Given the description of an element on the screen output the (x, y) to click on. 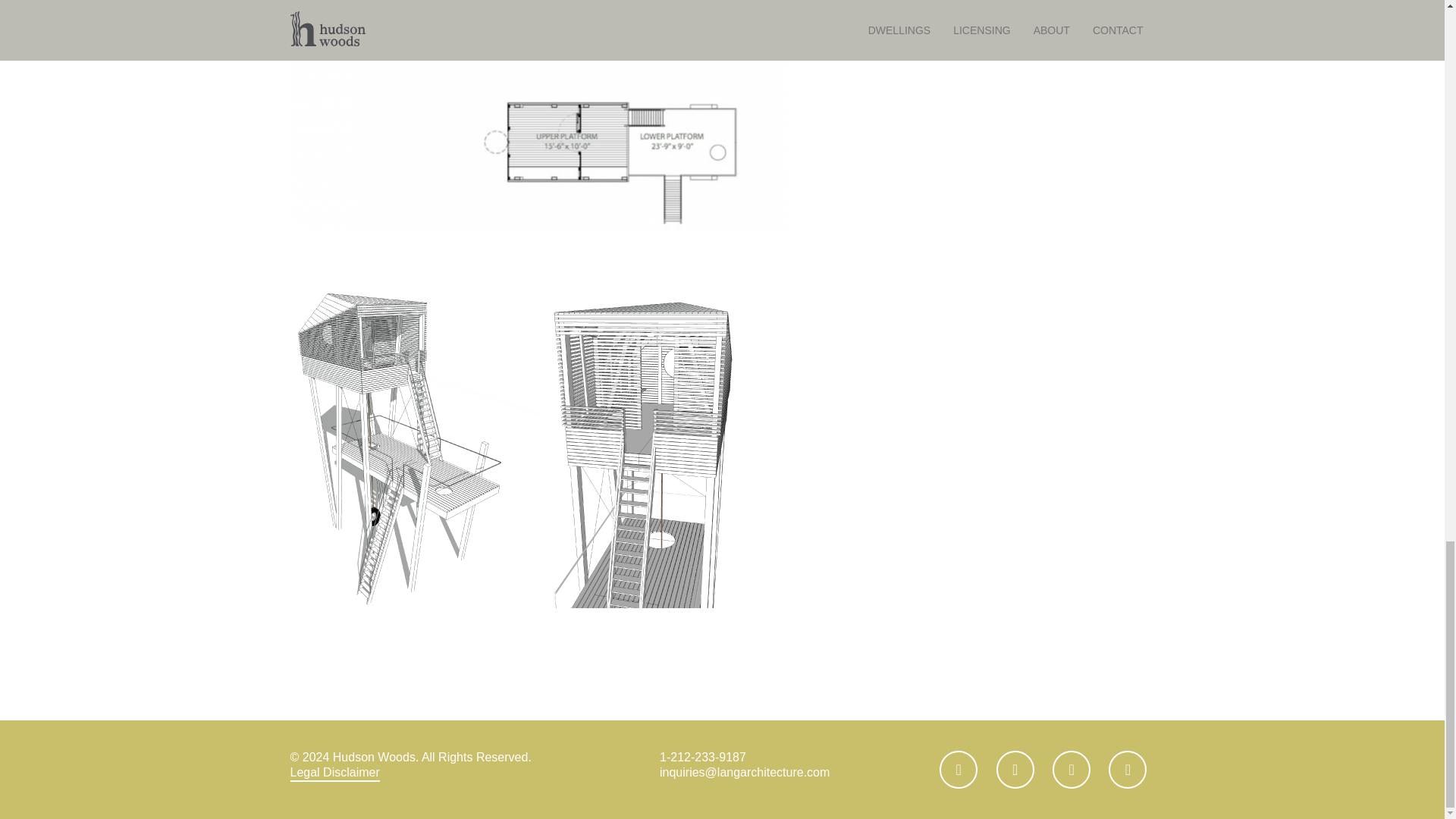
Legal Disclaimer (333, 773)
